Given the description of an element on the screen output the (x, y) to click on. 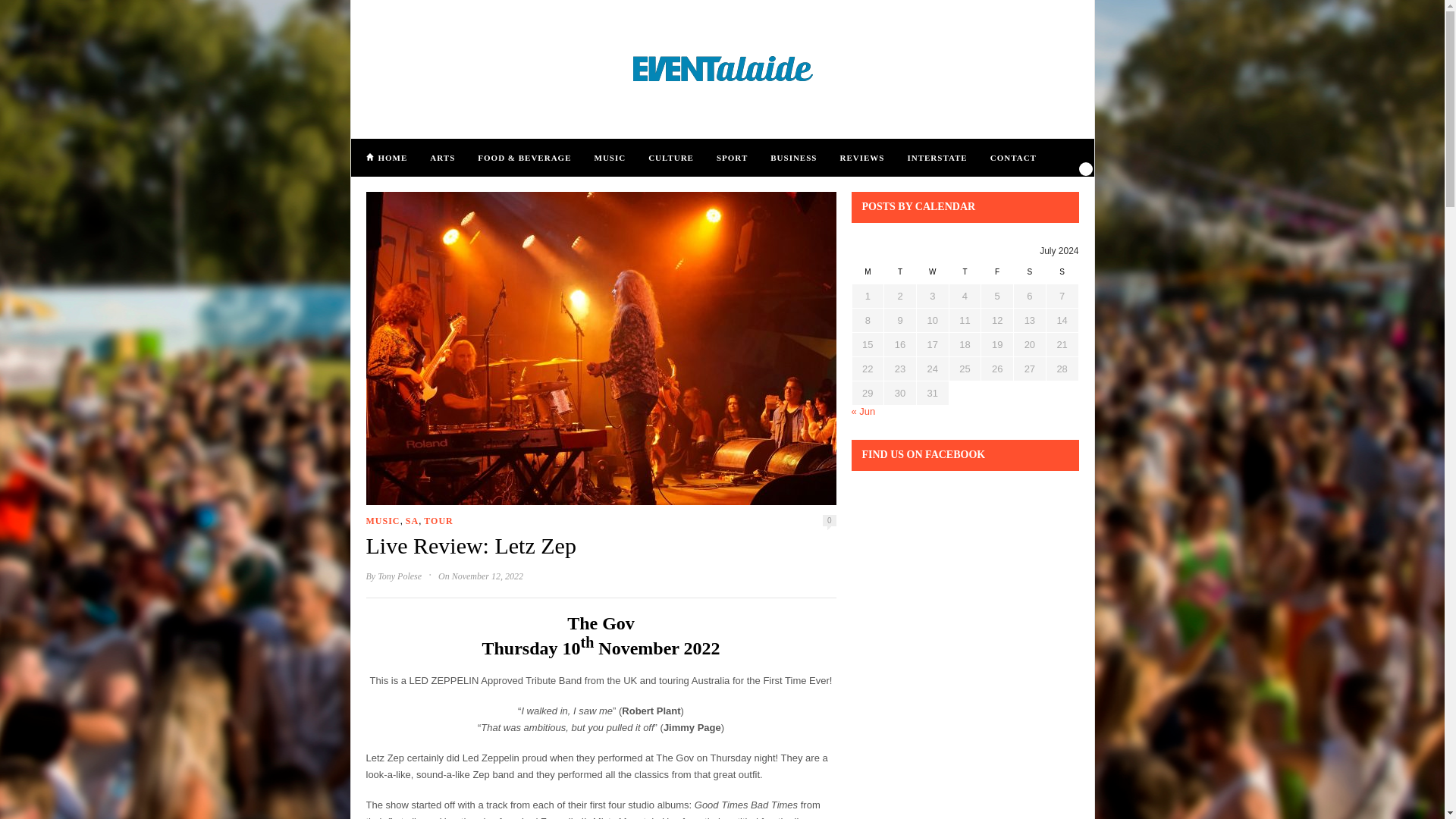
Sunday (1061, 275)
Posts by Tony Polese (399, 575)
Thursday (965, 275)
Wednesday (932, 275)
0 (828, 520)
Tony Polese (399, 575)
INTERSTATE (936, 157)
Tuesday (900, 275)
REVIEWS (861, 157)
ARTS (441, 157)
MUSIC (381, 521)
CULTURE (670, 157)
Friday (997, 275)
SPORT (732, 157)
BUSINESS (793, 157)
